Given the description of an element on the screen output the (x, y) to click on. 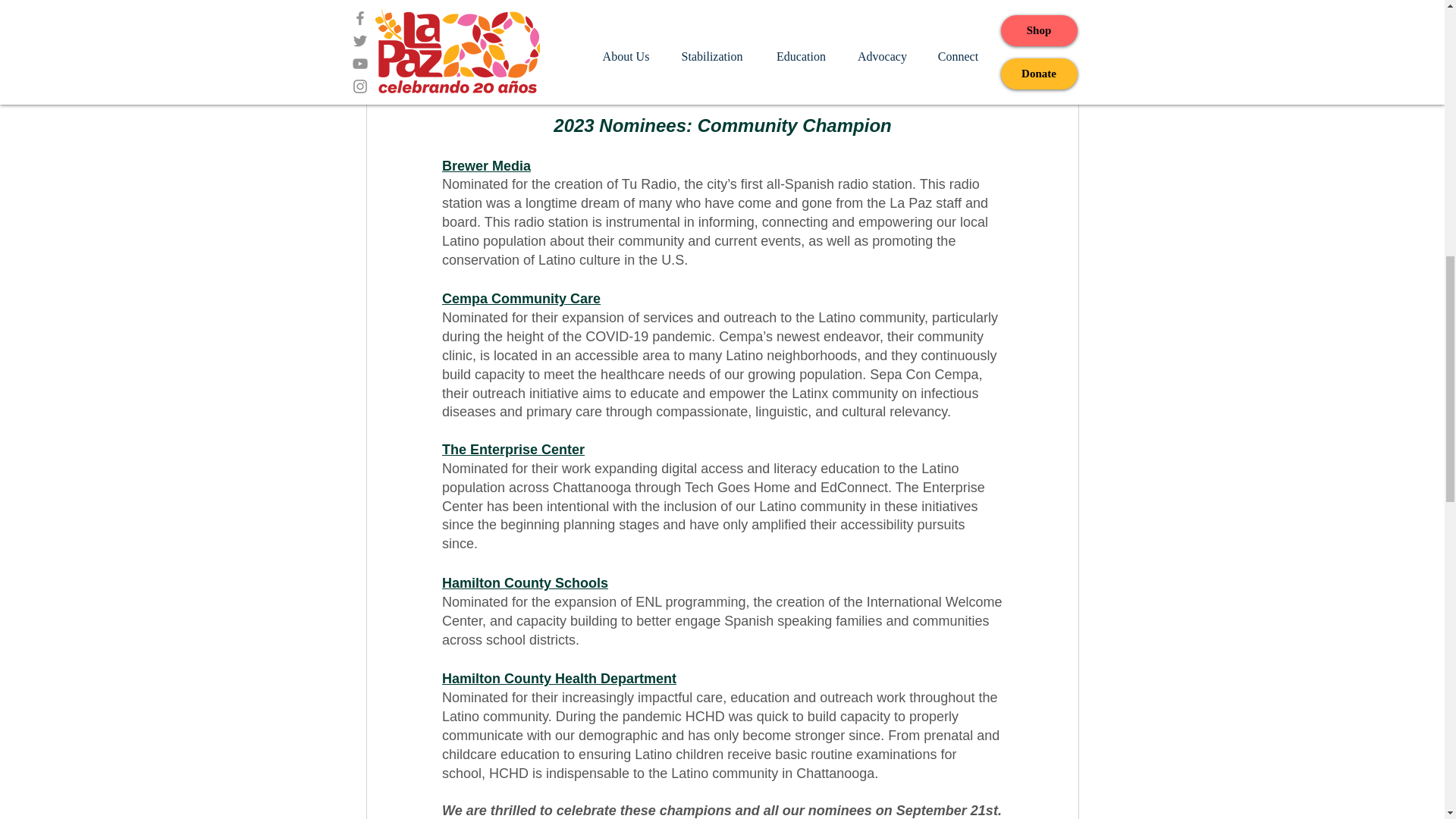
Cempa Community Care (520, 298)
The Enterprise Center (512, 449)
Brewer Media (485, 165)
Hamilton County Health Department (558, 678)
Hamilton County Schools (524, 582)
